Given the description of an element on the screen output the (x, y) to click on. 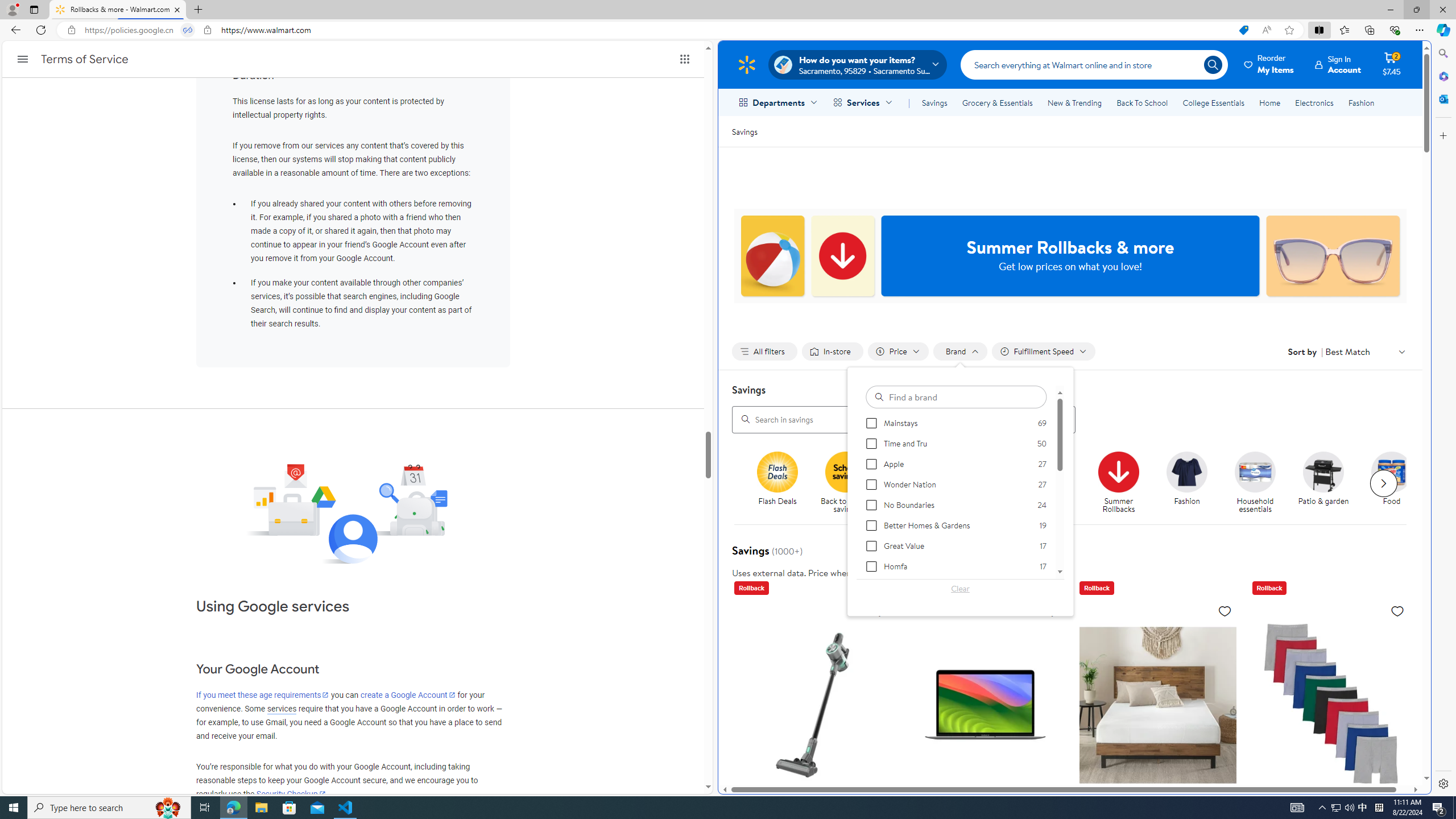
Patio & garden (1323, 471)
Flash deals Flash Deals (777, 478)
Get it today (1054, 483)
$20 and under $20 & under (981, 478)
Flash Deals (782, 483)
Sort by Best Match (1366, 351)
College Essentials (1213, 102)
Back to college savings (917, 483)
Back to College savings (913, 471)
Sign In Account (1338, 64)
